Given the description of an element on the screen output the (x, y) to click on. 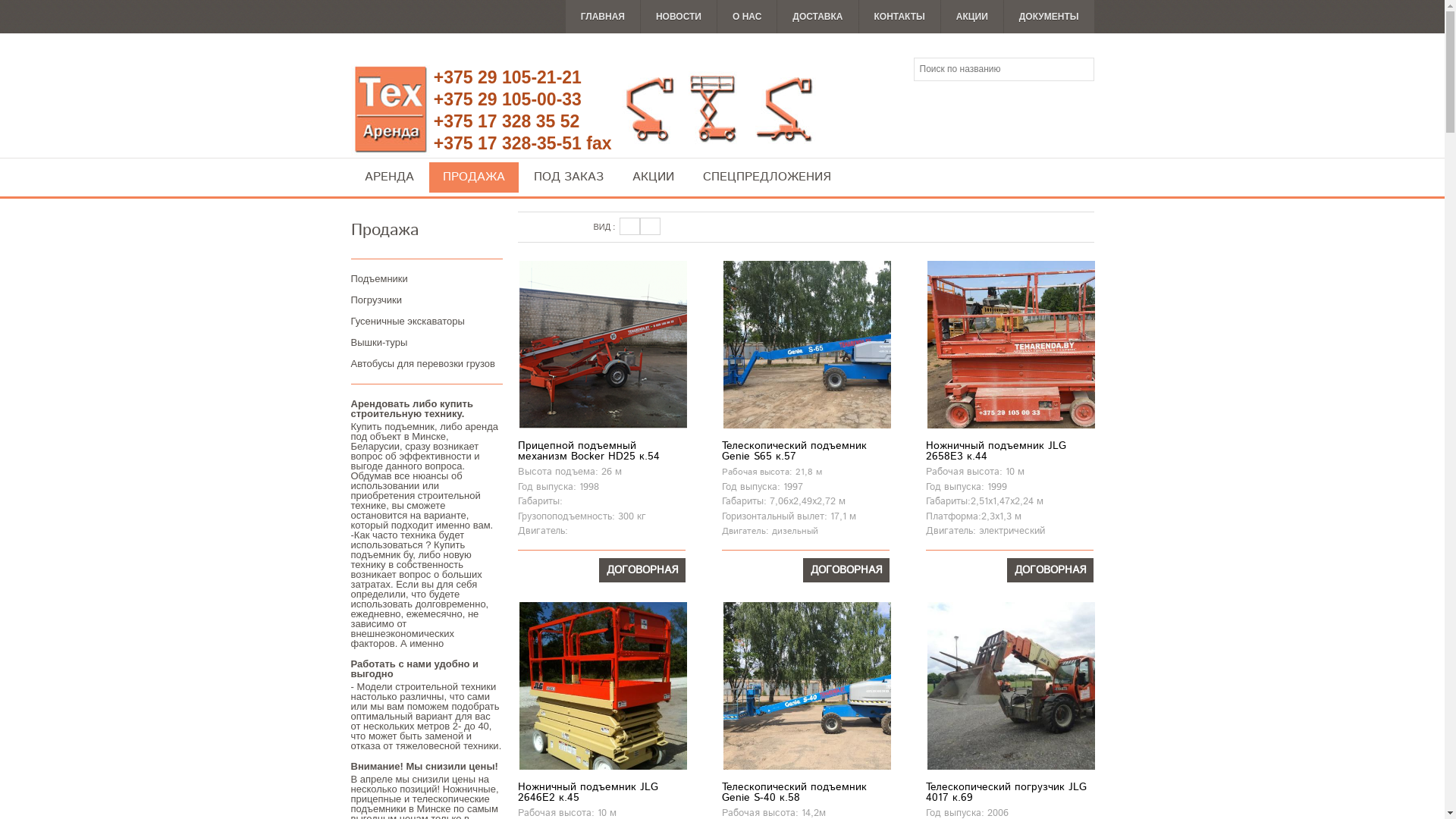
Search Element type: hover (1080, 69)
